Given the description of an element on the screen output the (x, y) to click on. 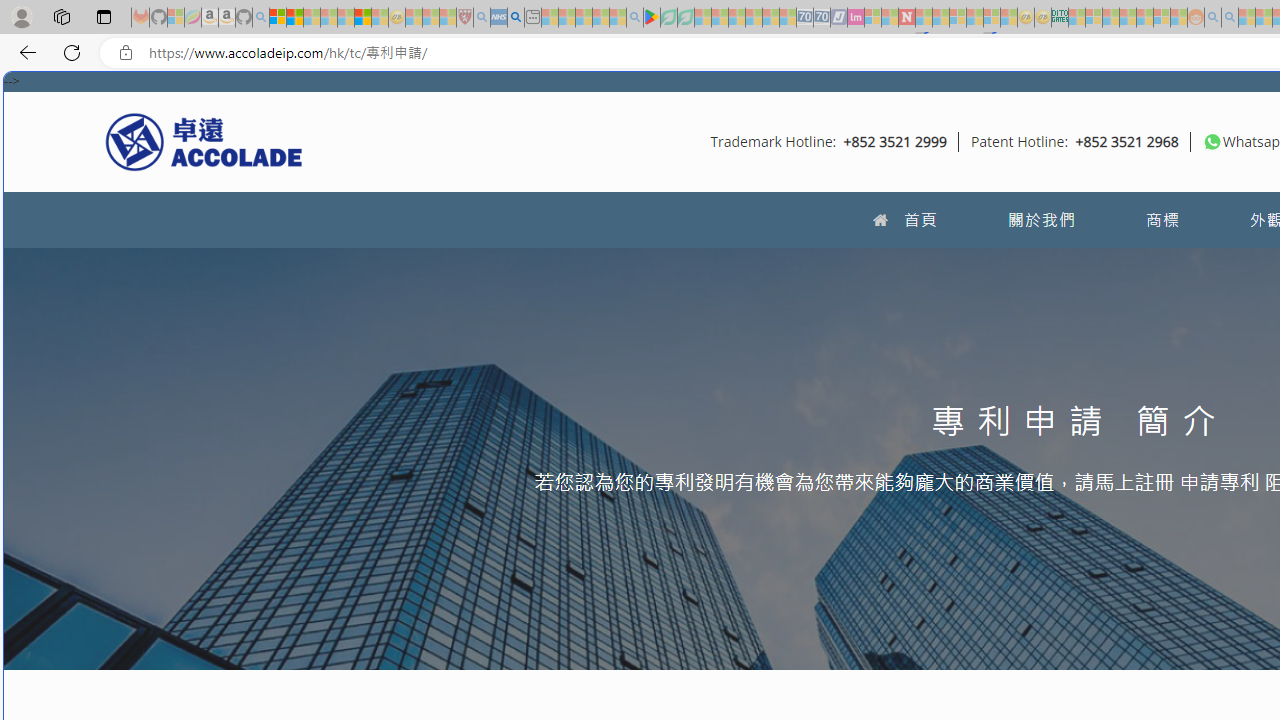
utah sues federal government - Search (515, 17)
